Given the description of an element on the screen output the (x, y) to click on. 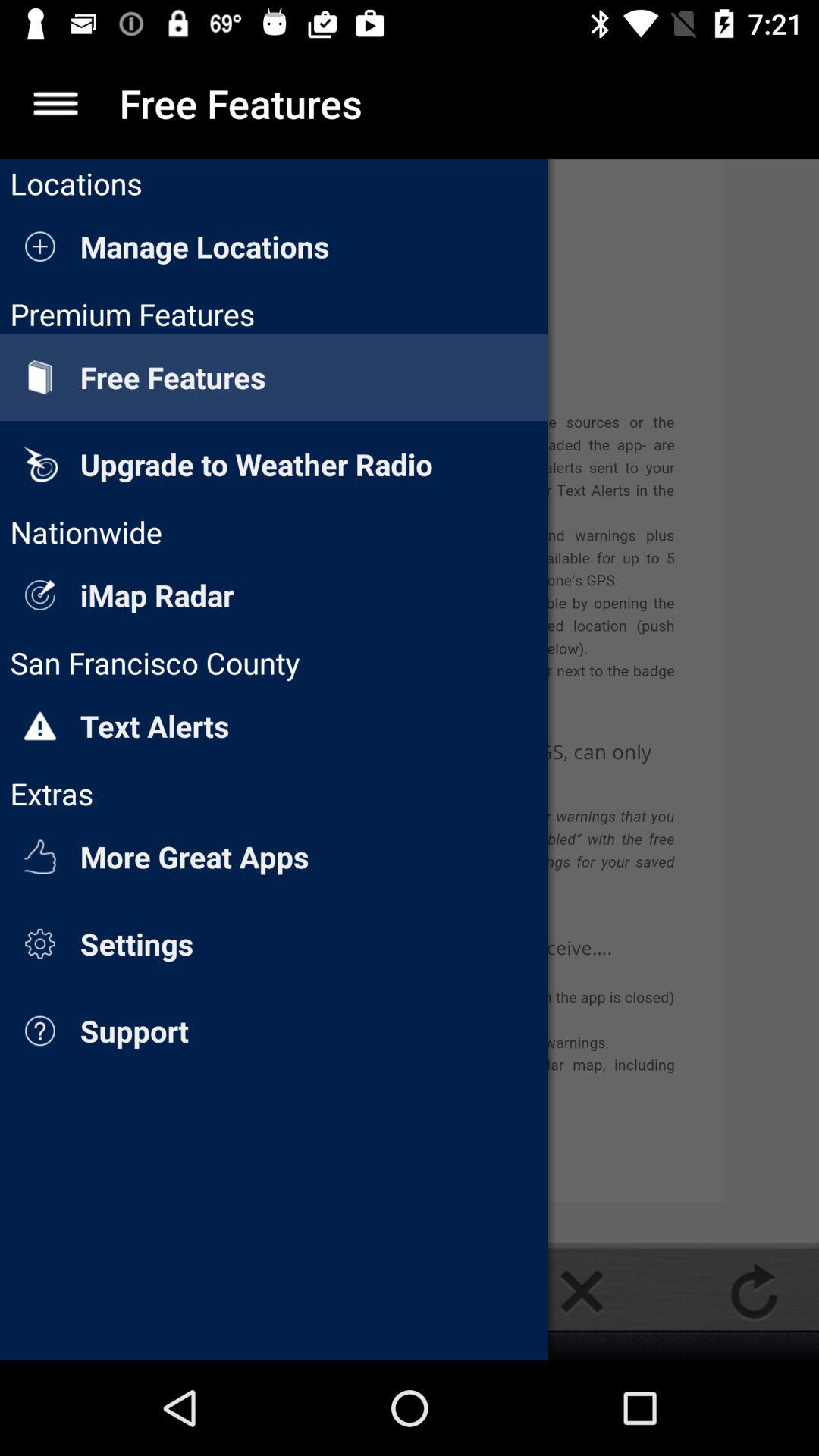
click the reload option (754, 1291)
